Given the description of an element on the screen output the (x, y) to click on. 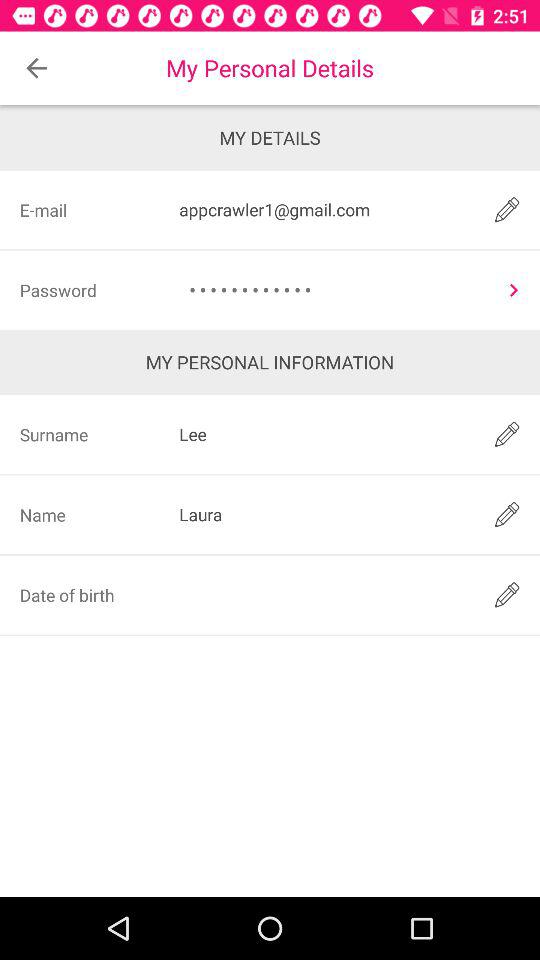
turn off item above the my personal information icon (333, 289)
